Given the description of an element on the screen output the (x, y) to click on. 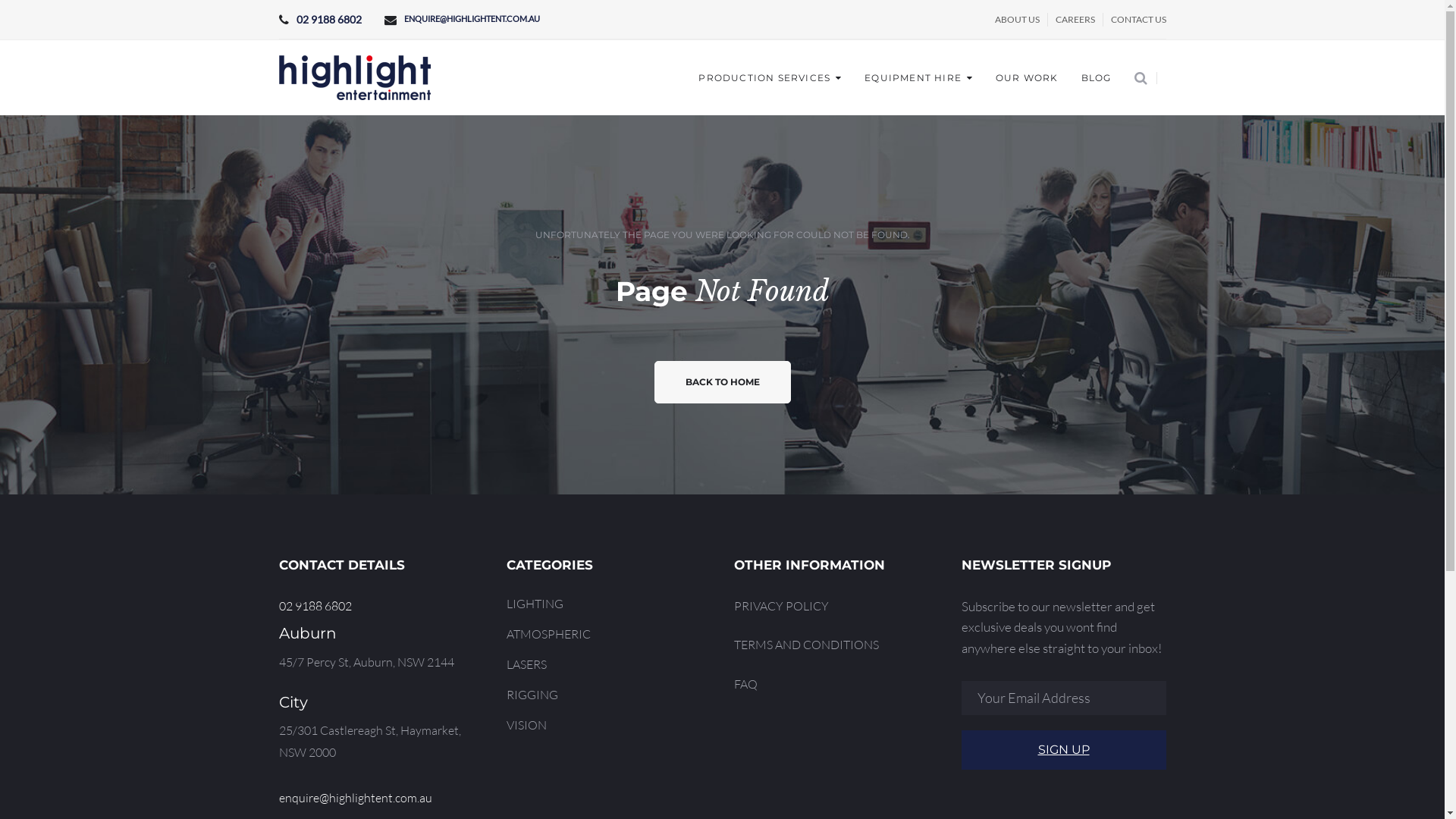
PRIVACY POLICY Element type: text (781, 605)
LIGHTING Element type: text (534, 603)
ABOUT US Element type: text (1016, 19)
LASERS Element type: text (526, 663)
BACK TO HOME Element type: text (721, 381)
BLOG Element type: text (1096, 77)
CONTACT US Element type: text (1137, 19)
EQUIPMENT HIRE Element type: text (918, 77)
PRODUCTION SERVICES Element type: text (769, 77)
02 9188 6802 Element type: text (327, 19)
SIGN UP Element type: text (1063, 749)
VISION Element type: text (526, 724)
OUR WORK Element type: text (1026, 77)
RIGGING Element type: text (532, 694)
ENQUIRE@HIGHLIGHTENT.COM.AU Element type: text (471, 18)
FAQ Element type: text (745, 683)
enquire@highlightent.com.au Element type: text (355, 797)
ATMOSPHERIC Element type: text (548, 633)
TERMS AND CONDITIONS Element type: text (806, 644)
CAREERS Element type: text (1075, 19)
02 9188 6802 Element type: text (315, 605)
